Given the description of an element on the screen output the (x, y) to click on. 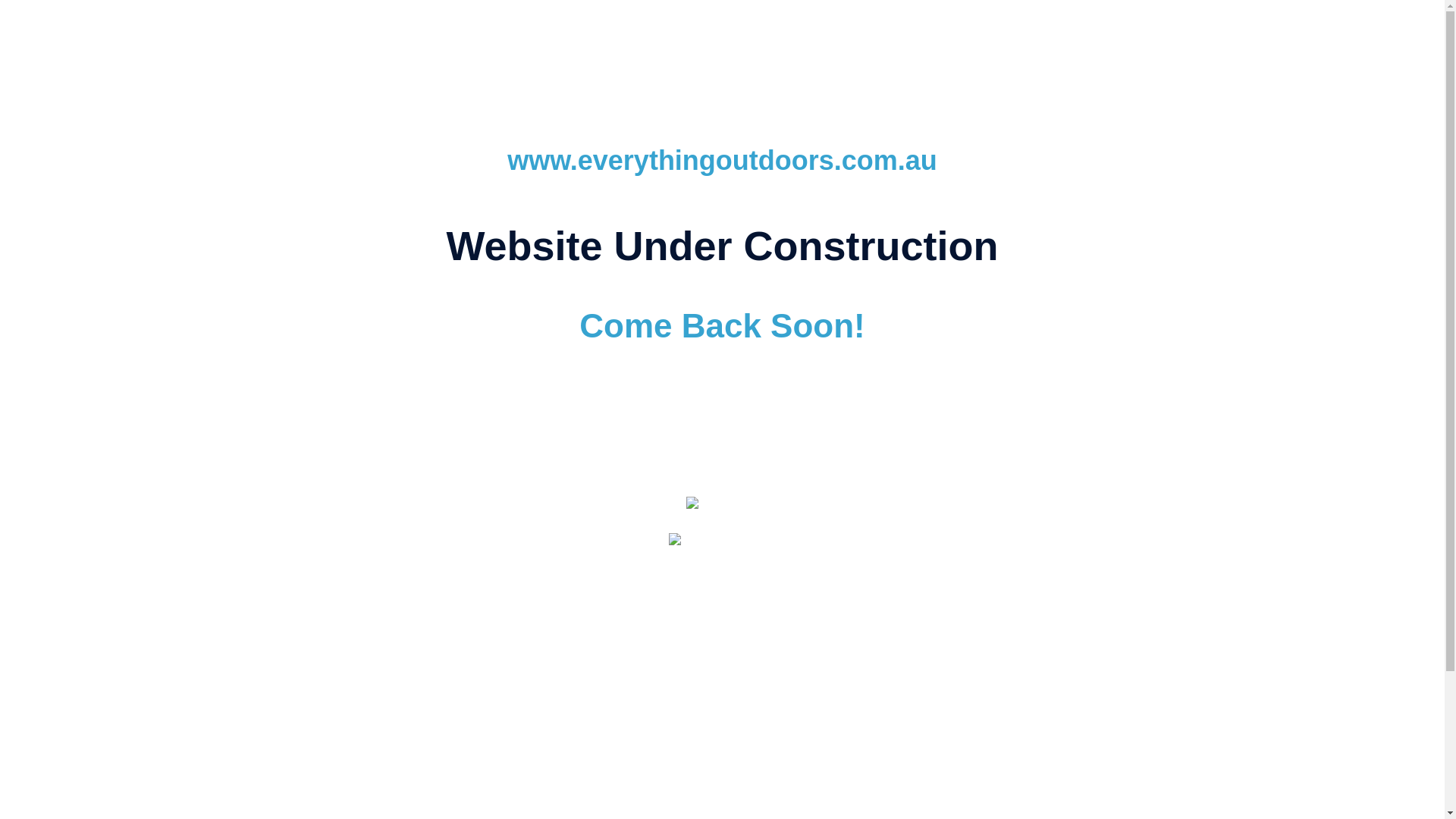
SEM Services (Search Engine Marketing) Element type: text (724, 673)
Domain Registration Element type: text (575, 683)
Responsive Design Element type: text (805, 683)
Ballarat Dedicated Support Team Element type: text (957, 683)
Website Hosting Element type: text (618, 664)
Email Hosting Element type: text (711, 664)
Website Design & Development Element type: text (477, 664)
SEO Services (Search Engine Optimisation) Element type: text (879, 664)
Pattern Tall Element type: hover (722, 507)
www.ubcwebdesign.com.au Element type: text (721, 592)
SSL Certificates Element type: text (884, 692)
Australian Hosting Element type: text (691, 683)
UBC Web Design Element type: hover (721, 539)
(03) 5345 8141 Element type: text (788, 727)
